Given the description of an element on the screen output the (x, y) to click on. 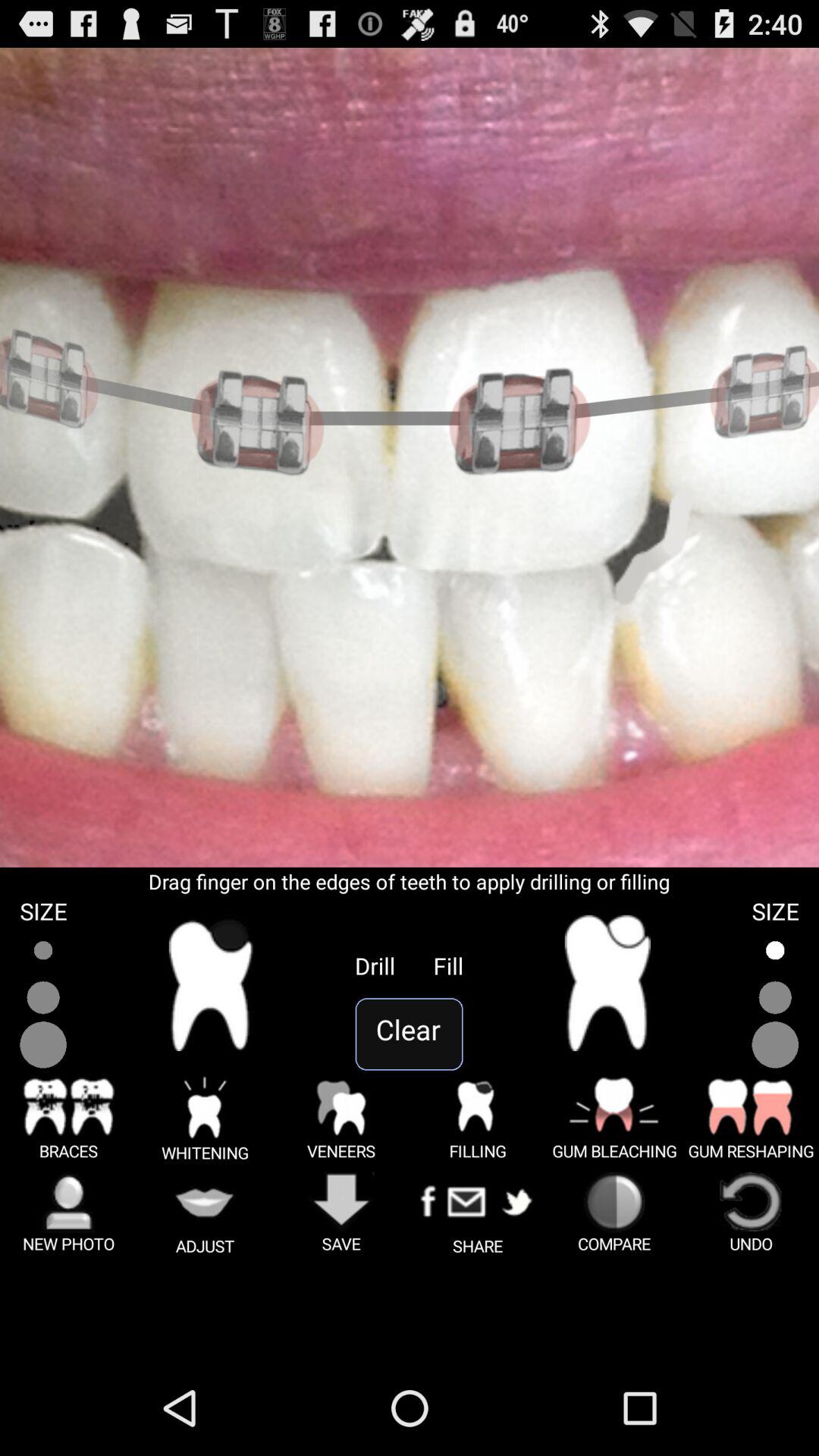
select the text veneers (340, 1118)
click on symbol beside veneers (477, 1118)
click on the option beside save (477, 1213)
select the button clear (408, 1033)
